Given the description of an element on the screen output the (x, y) to click on. 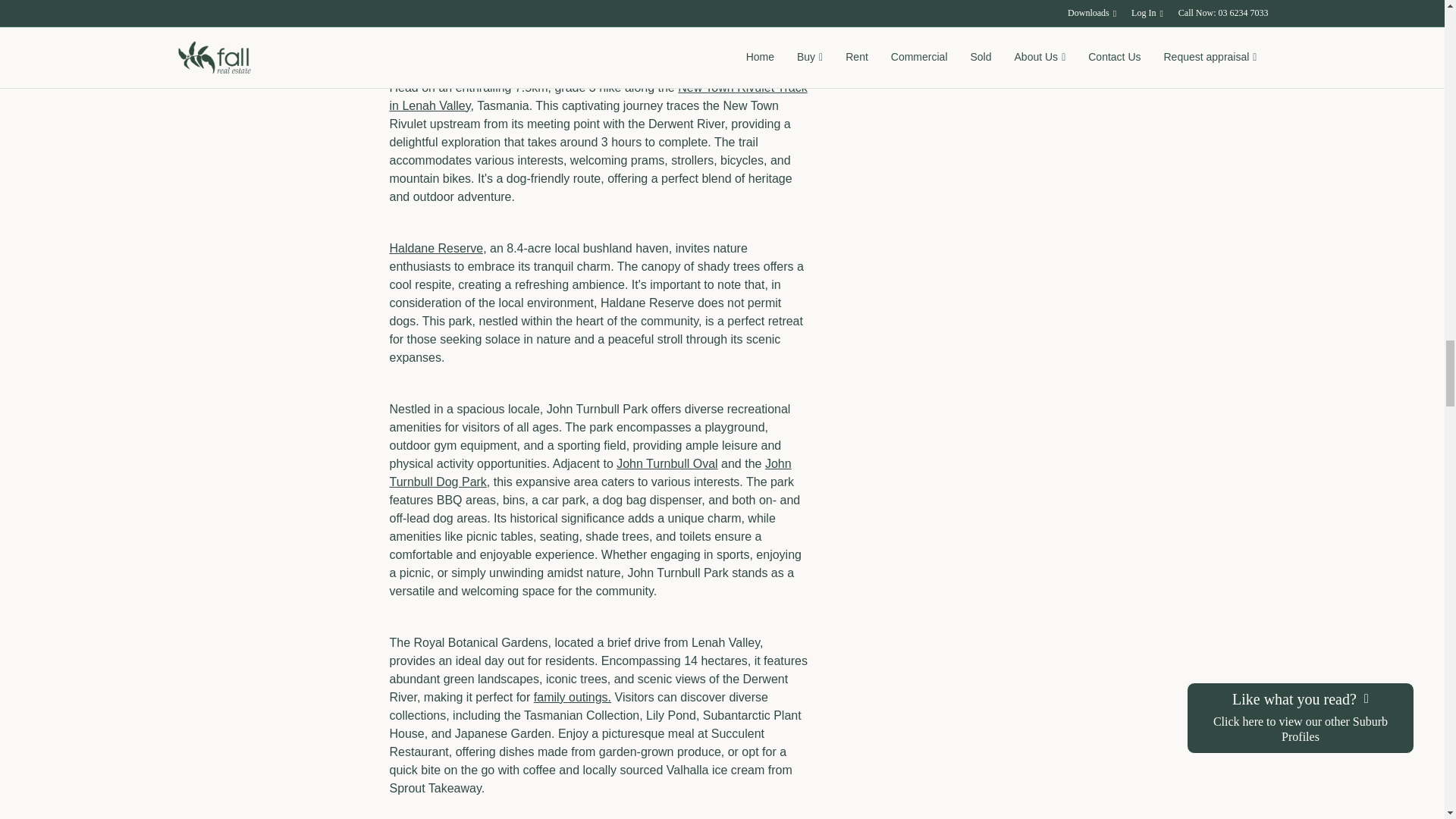
New Town Rivulet Track in Lenah Valley (599, 96)
